Given the description of an element on the screen output the (x, y) to click on. 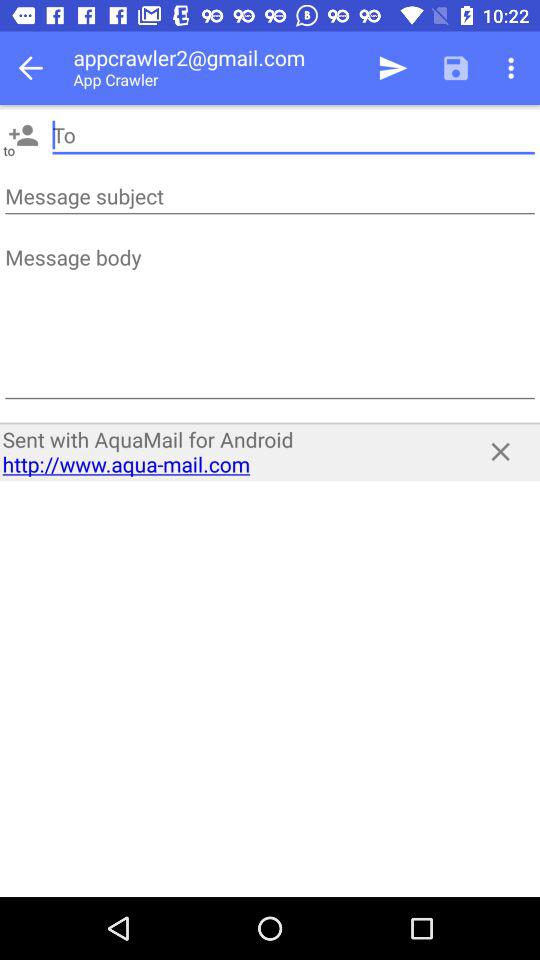
choose the item at the center (228, 451)
